Given the description of an element on the screen output the (x, y) to click on. 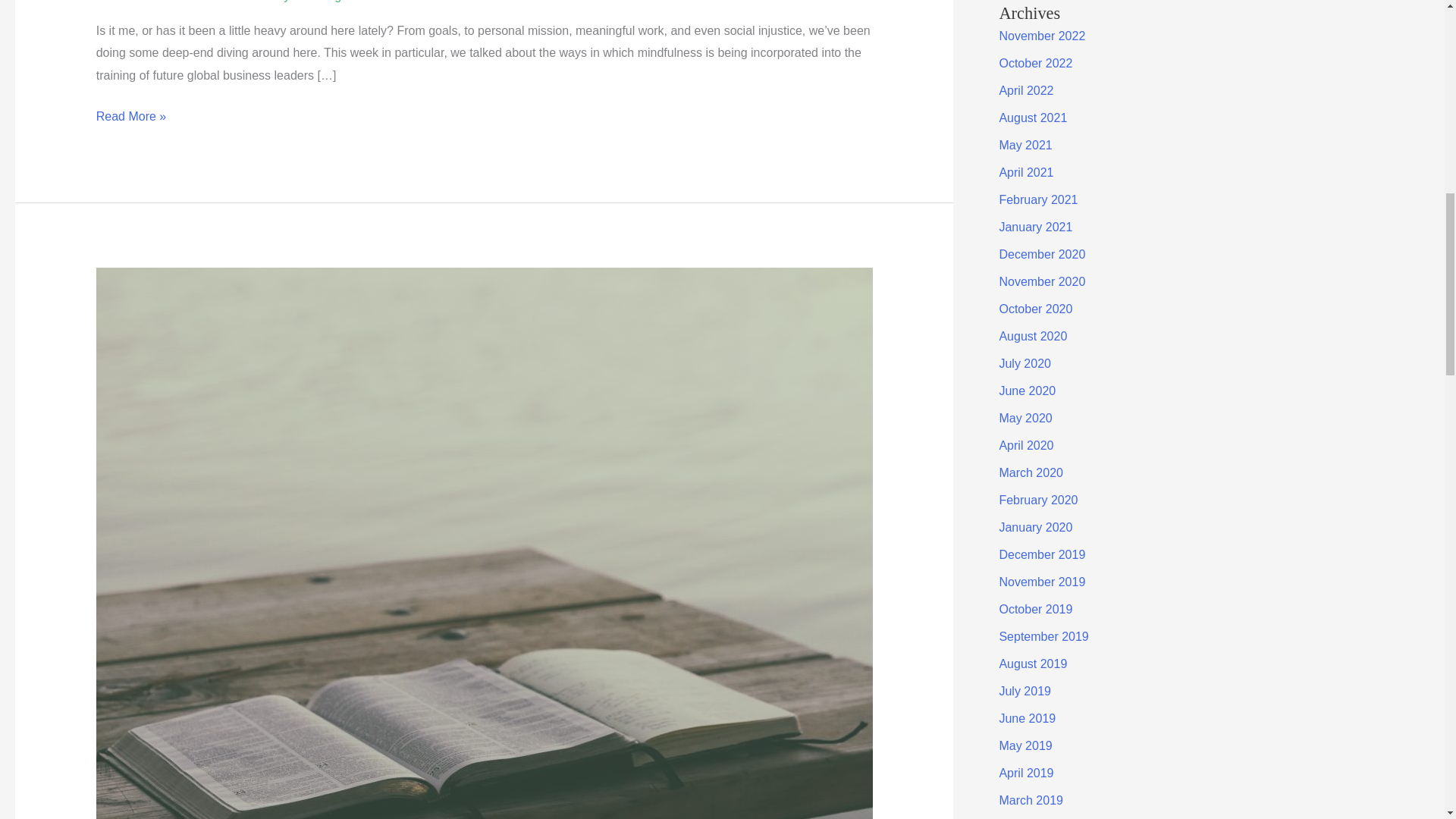
Leave a Comment (145, 1)
View all posts by mindfulmba (395, 1)
mindfulmba (395, 1)
"No-Fail" Friday Challenges (279, 1)
